Given the description of an element on the screen output the (x, y) to click on. 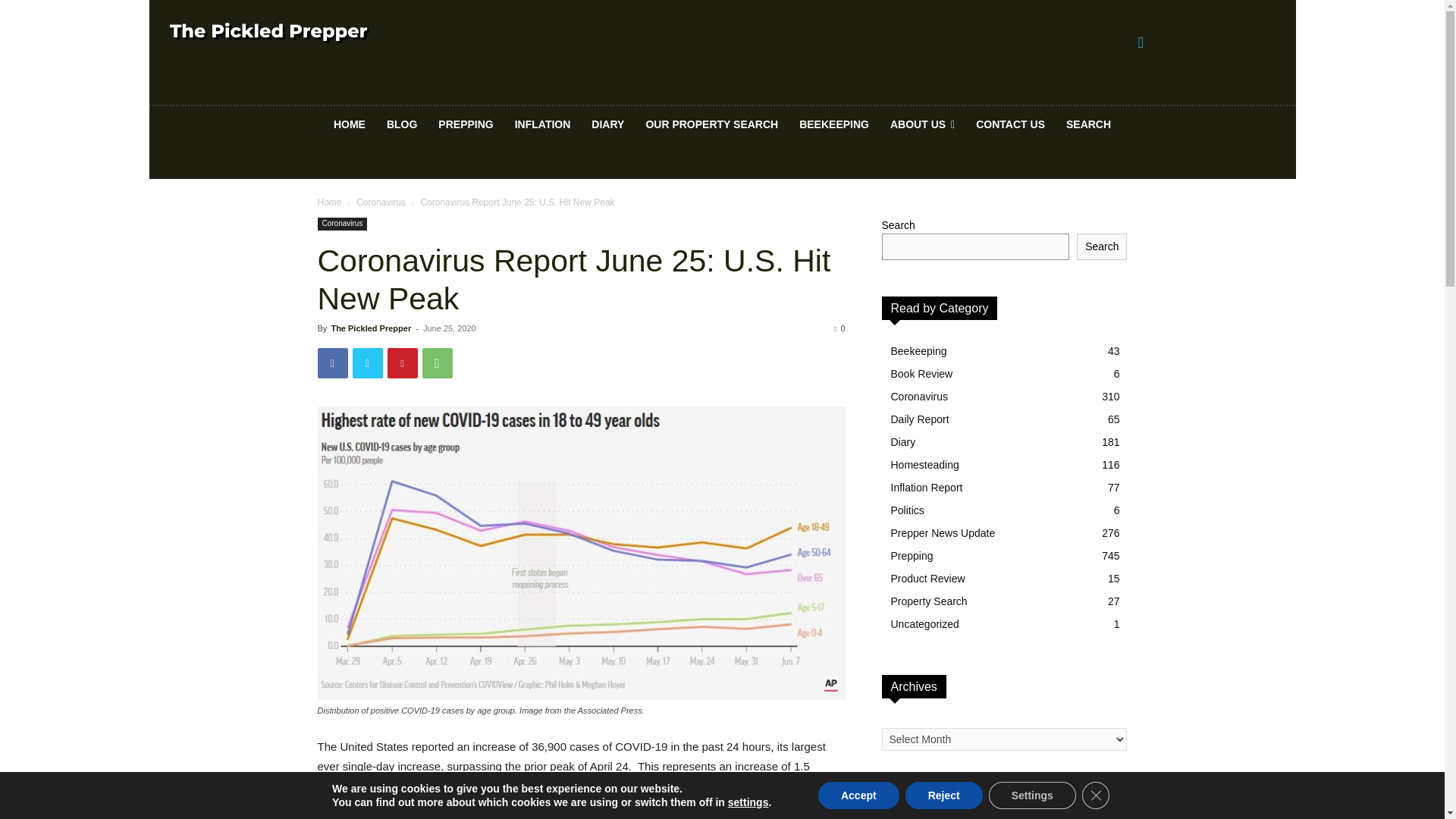
DIARY (607, 124)
PREPPING (465, 124)
BLOG (401, 124)
The Pickled Prepper (370, 327)
Pinterest (401, 363)
The Pickled Prepper Blog (376, 33)
Home (328, 202)
Coronavirus (381, 202)
0 (839, 327)
WhatsApp (436, 363)
SEARCH (1088, 124)
ABOUT US (922, 124)
The Pickled Prepper Blog (269, 33)
View all posts in Coronavirus (381, 202)
